Given the description of an element on the screen output the (x, y) to click on. 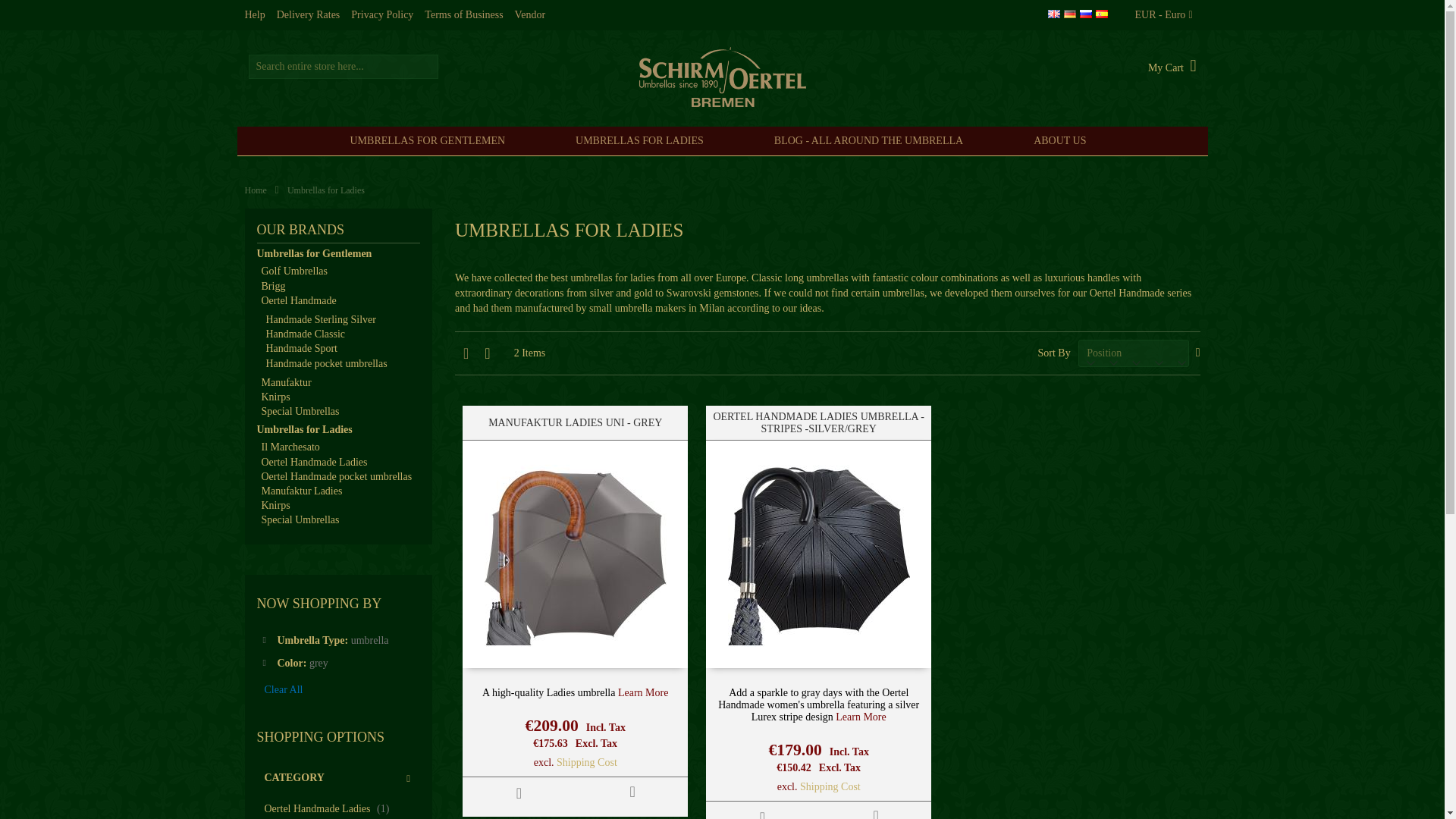
Privacy Policy (381, 14)
Delivery Rates (308, 14)
Help (254, 14)
Vendor (529, 14)
Add to Compare (631, 791)
Schirm Oertel - European Umbrellas (722, 76)
Go to Home Page (255, 190)
UMBRELLAS FOR LADIES (643, 140)
Manufaktur Ladies uni - grey (642, 692)
BLOG - ALL AROUND THE UMBRELLA (872, 140)
